Given the description of an element on the screen output the (x, y) to click on. 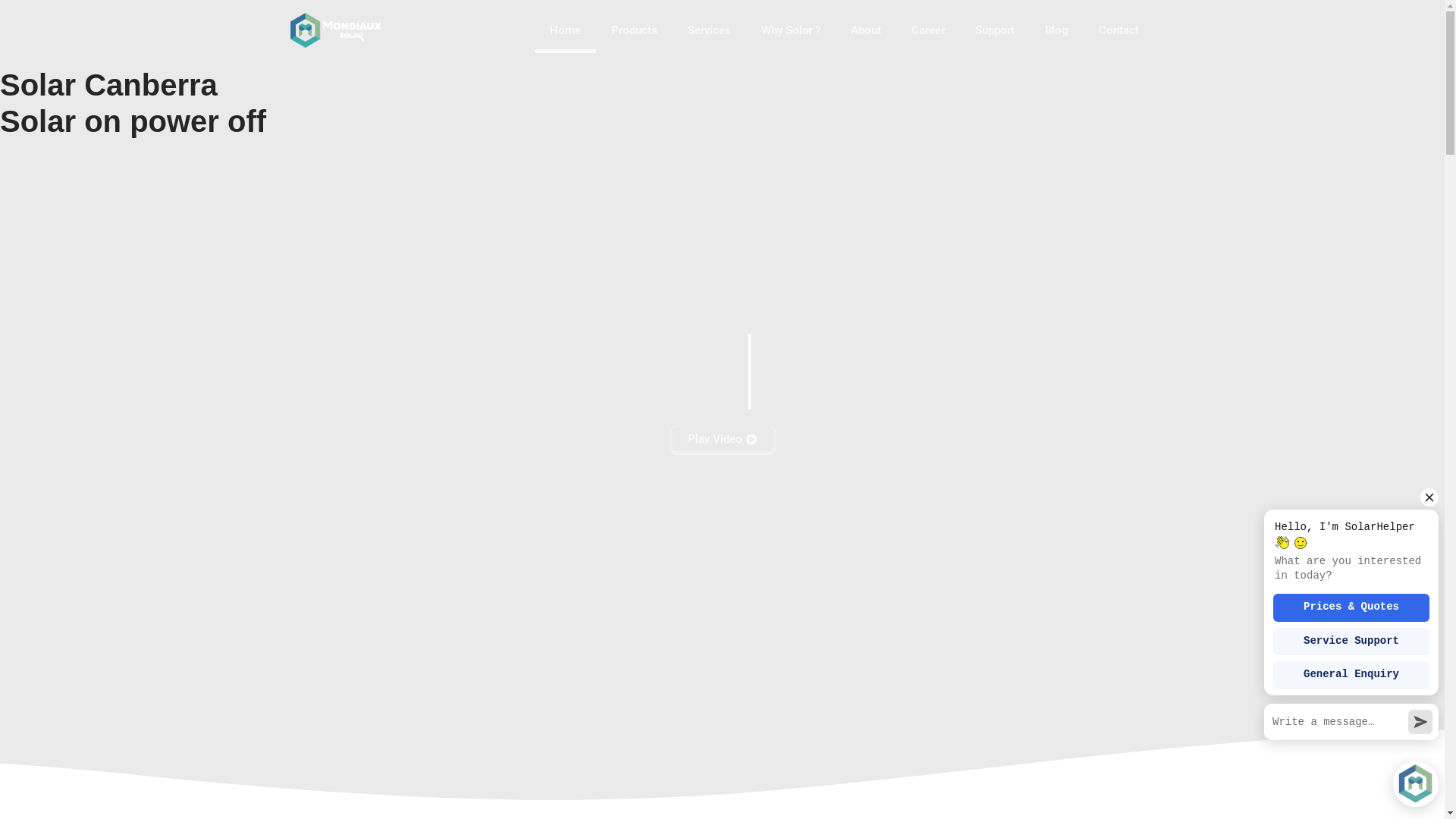
Why Solar ? Element type: text (790, 30)
Services Element type: text (709, 30)
Contact Element type: text (1118, 30)
Play Video Element type: text (721, 439)
Blog Element type: text (1056, 30)
Career Element type: text (928, 30)
Products Element type: text (634, 30)
About Element type: text (865, 30)
Support Element type: text (994, 30)
Home Element type: text (565, 30)
